Given the description of an element on the screen output the (x, y) to click on. 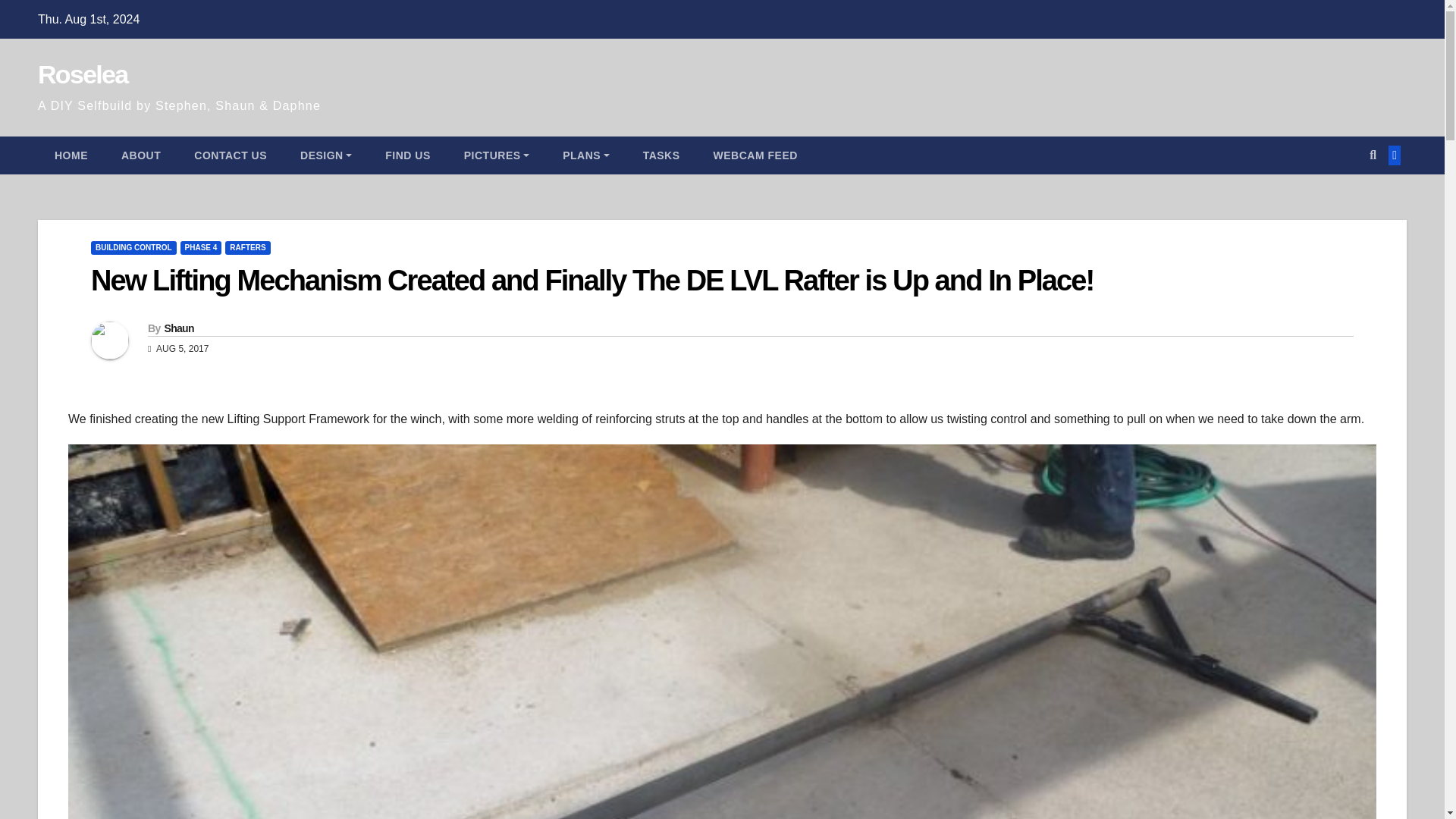
CONTACT US (230, 155)
FIND US (407, 155)
ABOUT (140, 155)
HOME (70, 155)
PLANS (586, 155)
PICTURES (496, 155)
TASKS (661, 155)
Roselea (82, 73)
Home (70, 155)
WEBCAM FEED (755, 155)
DESIGN (325, 155)
